Given the description of an element on the screen output the (x, y) to click on. 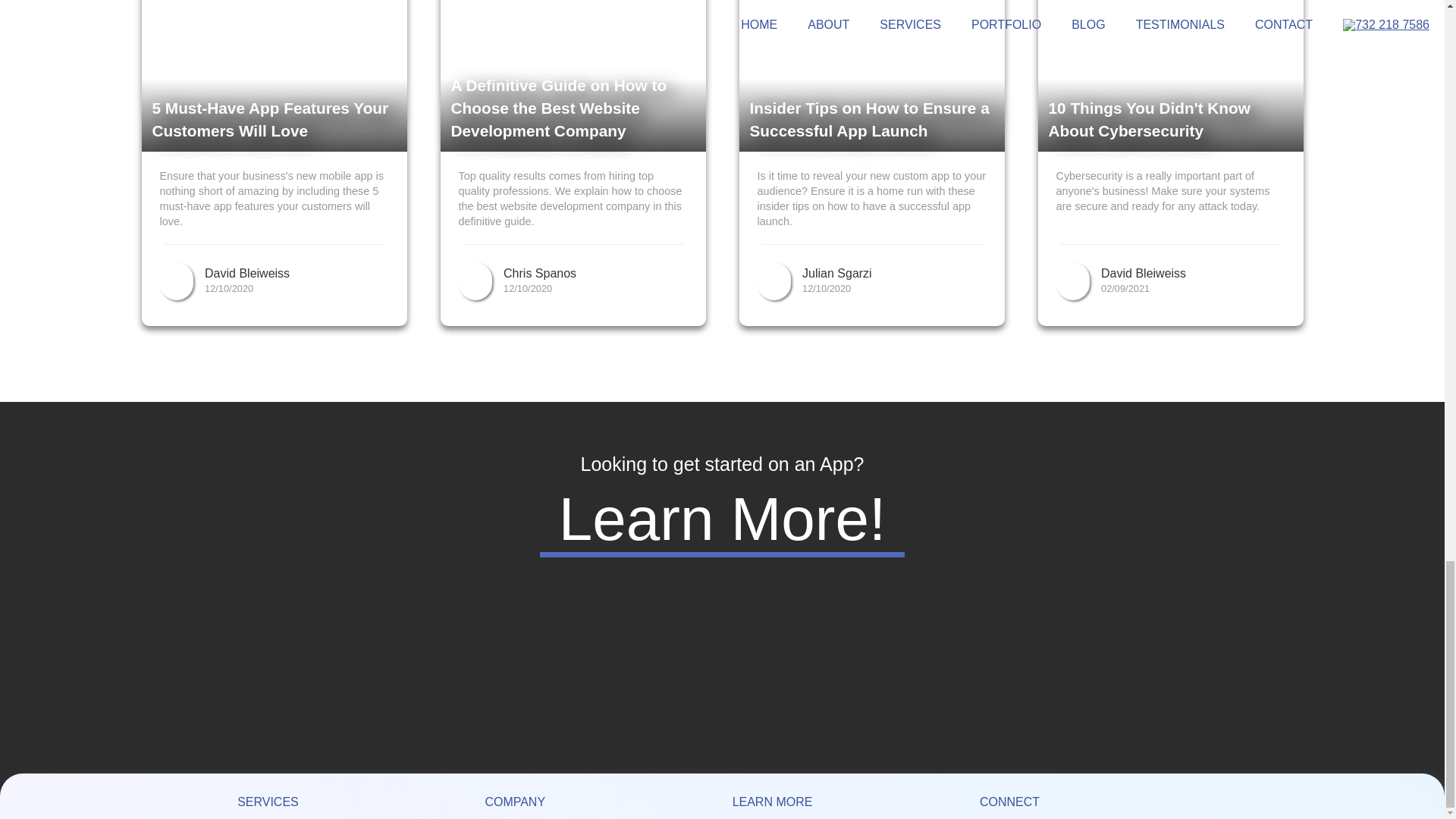
Learn More! (722, 518)
